Given the description of an element on the screen output the (x, y) to click on. 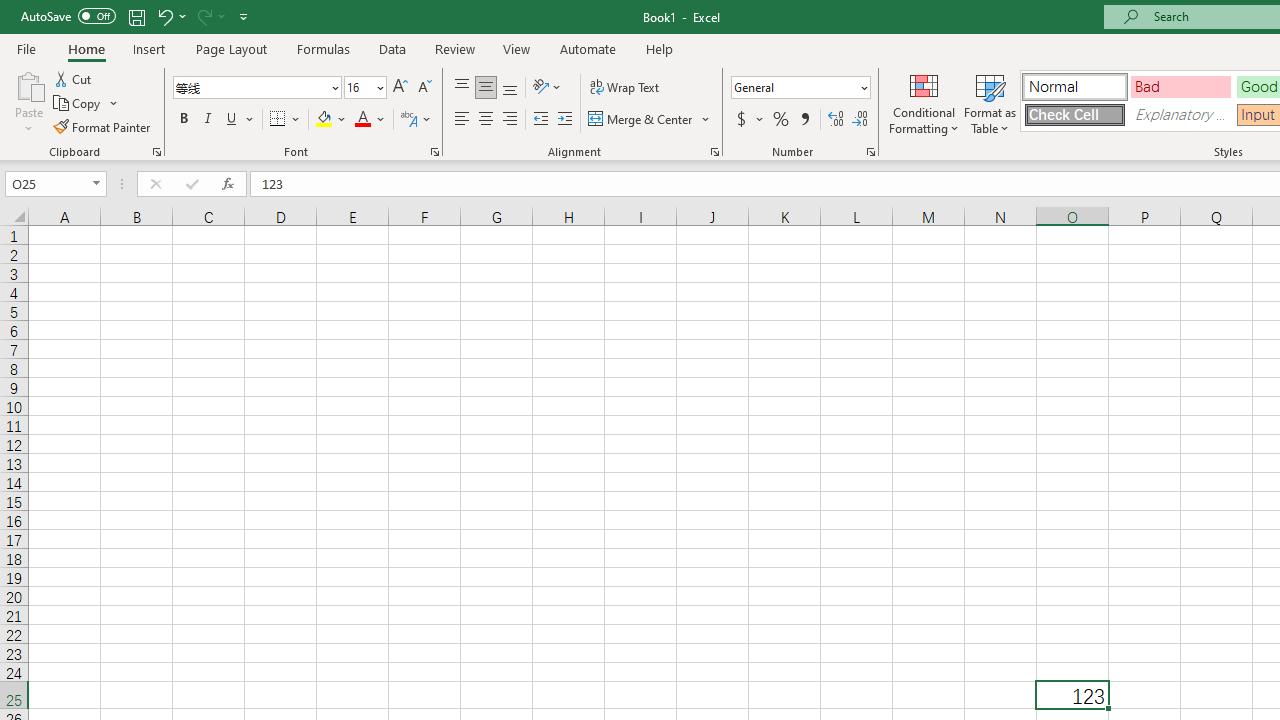
Format Cell Alignment (714, 151)
Accounting Number Format (749, 119)
Format Cell Number (870, 151)
Underline (232, 119)
Font Color RGB(255, 0, 0) (362, 119)
Font Size (365, 87)
Accounting Number Format (741, 119)
Copy (78, 103)
Underline (239, 119)
Bad (1180, 86)
Copy (85, 103)
